Given the description of an element on the screen output the (x, y) to click on. 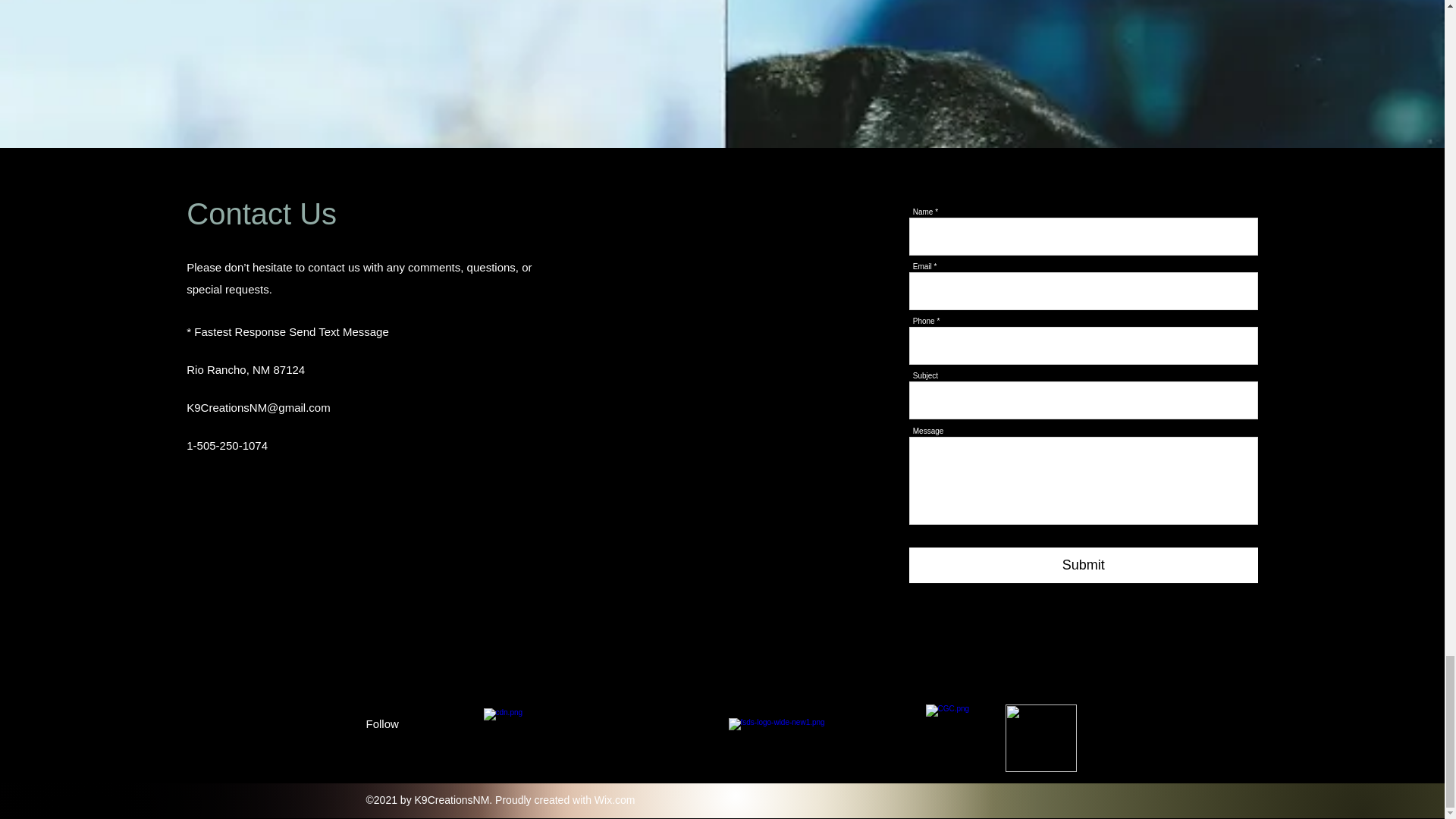
PetCareBadge.png (1041, 738)
